Given the description of an element on the screen output the (x, y) to click on. 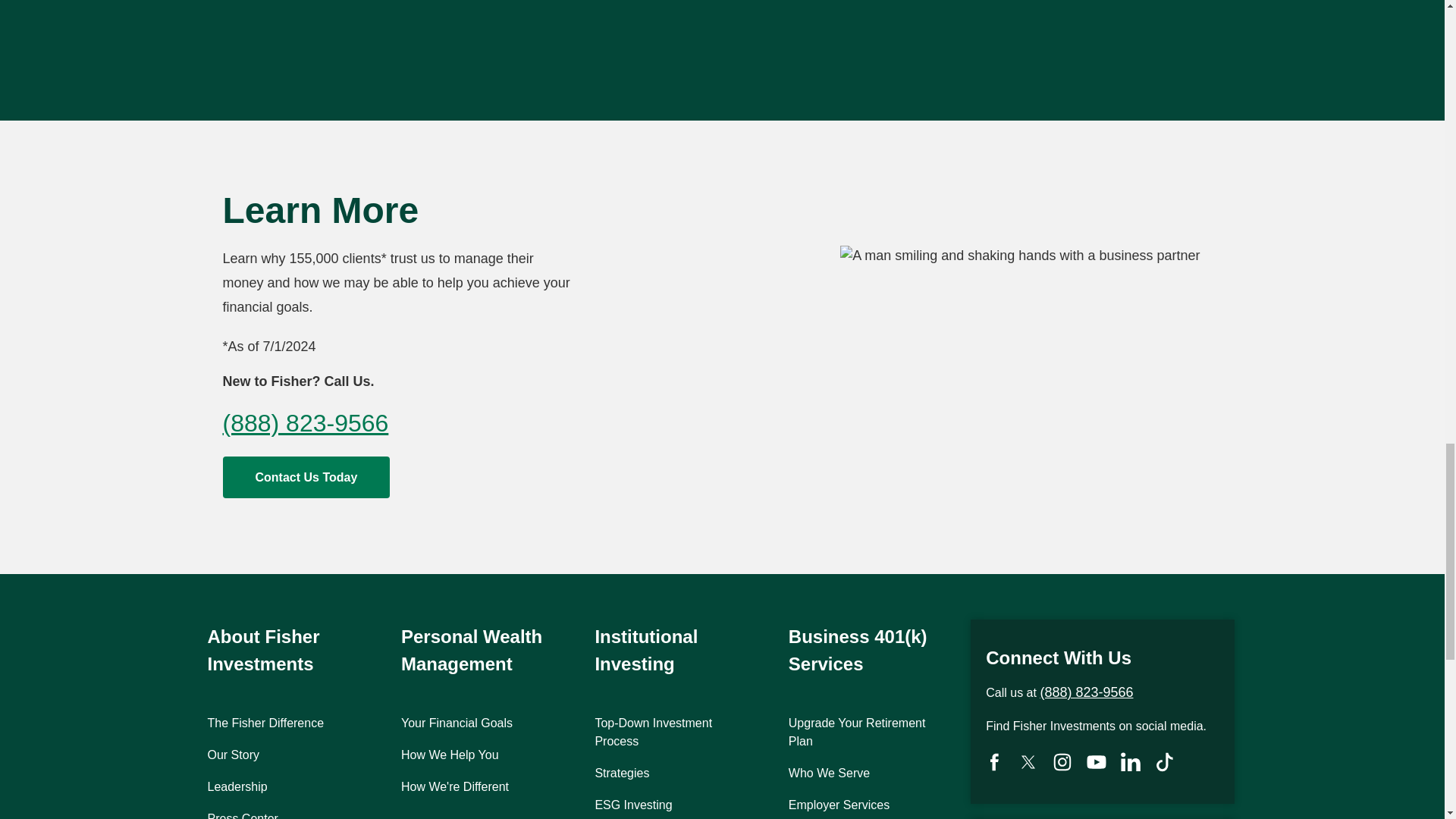
Follow us on Twitter (1027, 762)
twitter (1027, 762)
TikTok Icon (1164, 762)
Instagram Icon (1062, 762)
Follow us on TikTok (1164, 762)
Follow us on TikTok (1062, 762)
Follow us on LinkedIn (1130, 762)
Follow us on Facebook (994, 762)
Follow us on Youtube (1096, 762)
